Given the description of an element on the screen output the (x, y) to click on. 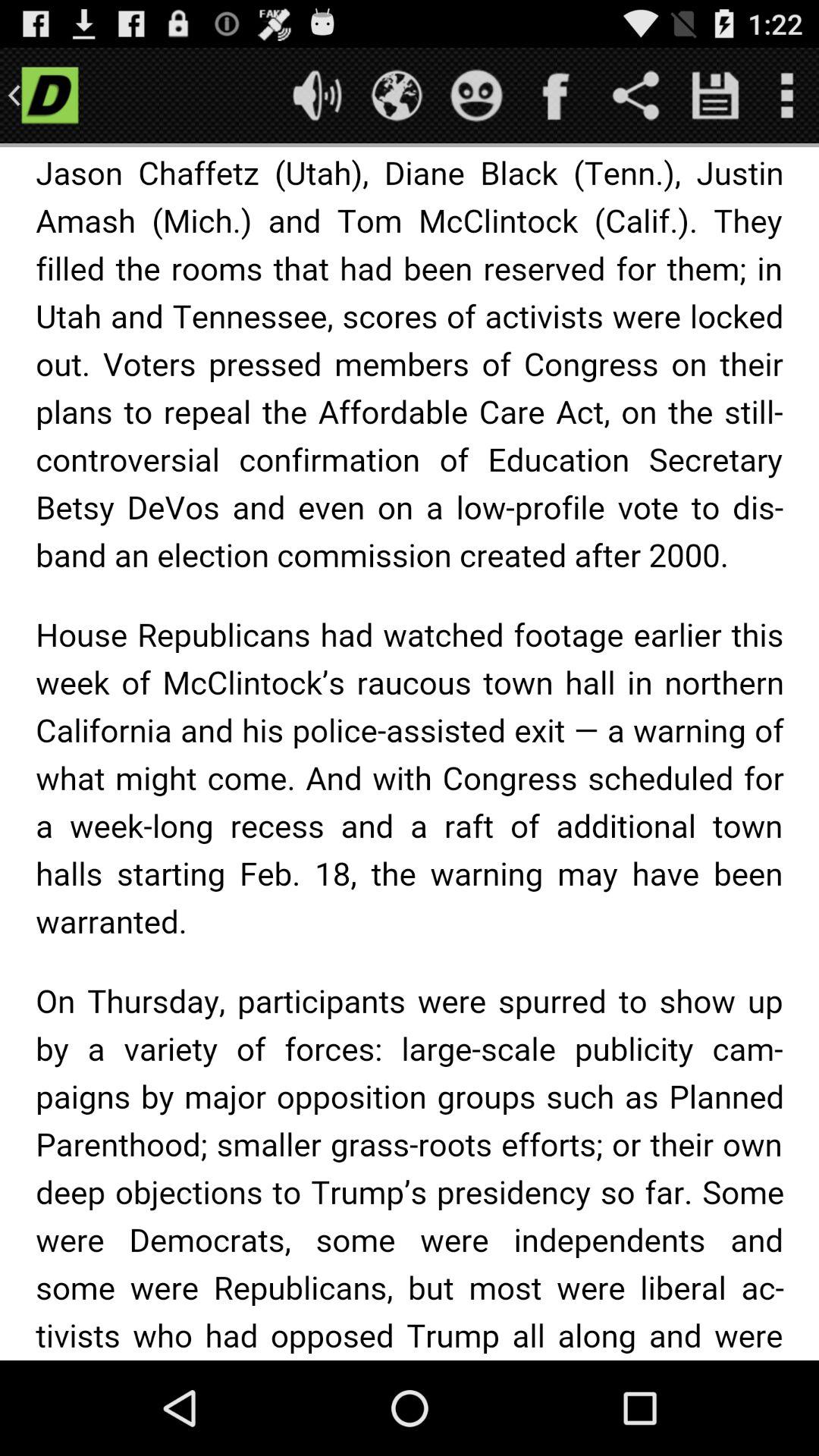
adjust volume (317, 95)
